Given the description of an element on the screen output the (x, y) to click on. 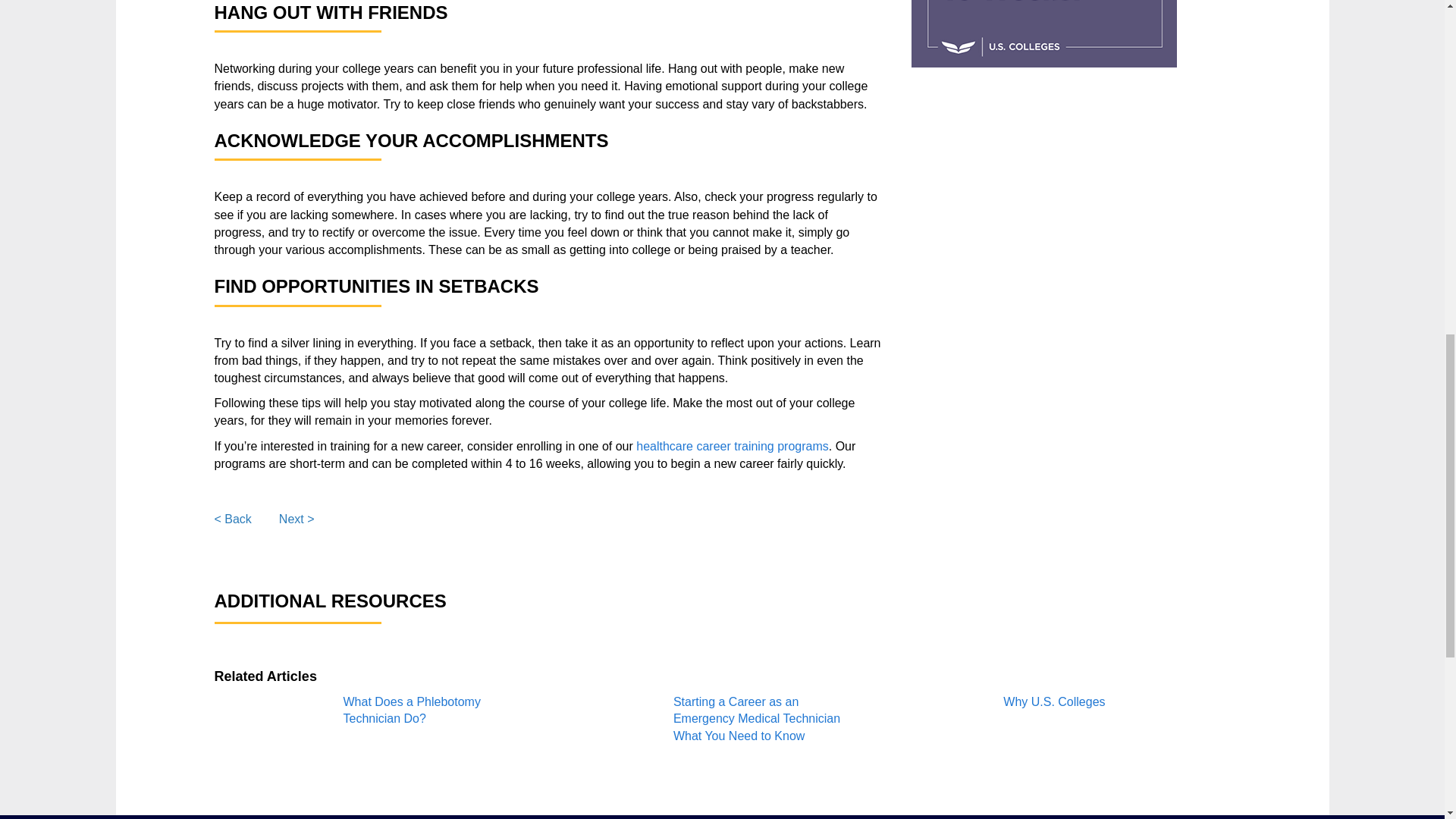
uscmed-blog-archive-banner (1043, 33)
